Given the description of an element on the screen output the (x, y) to click on. 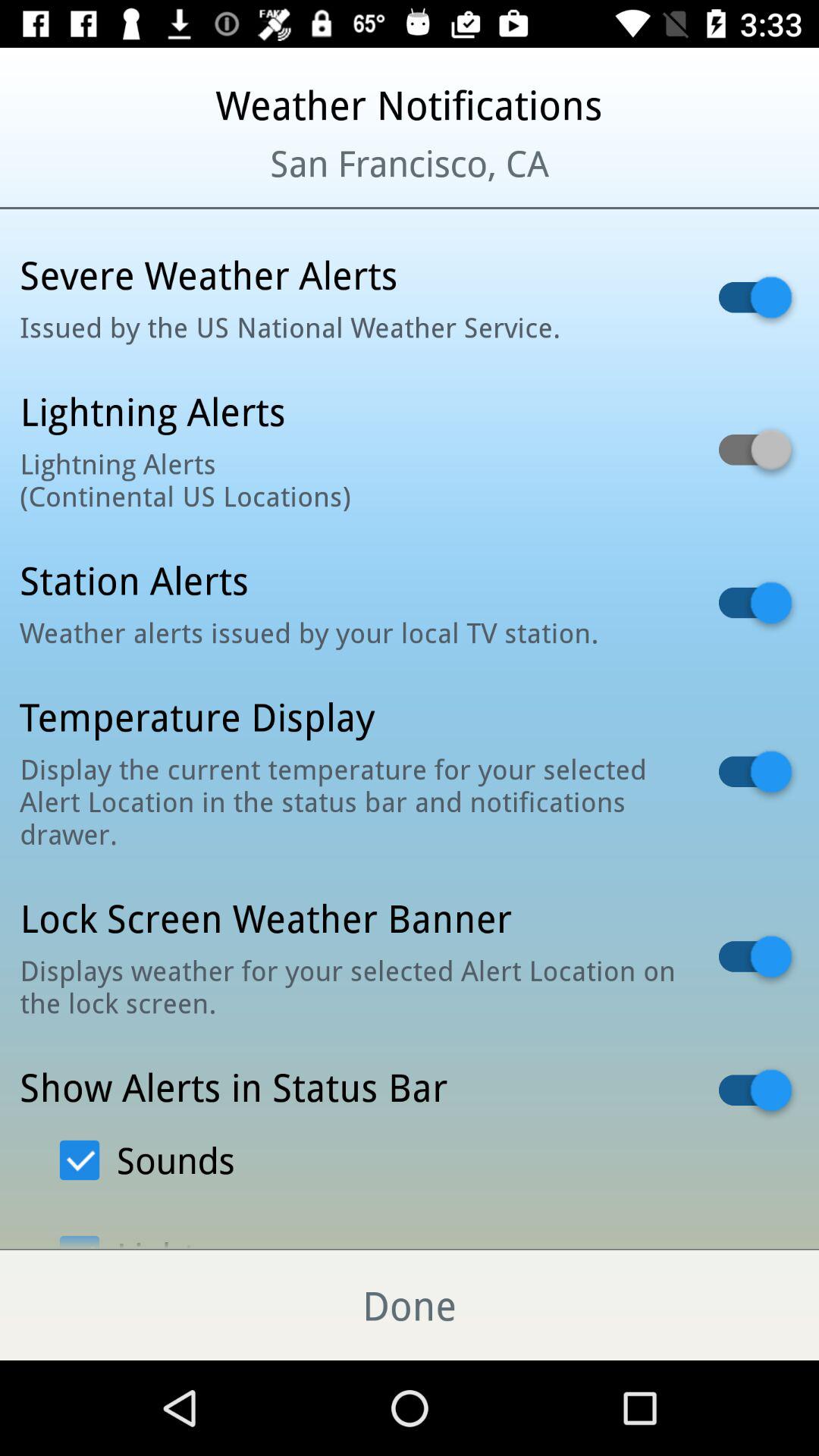
select the icon next to the san francisco, ca item (99, 182)
